Given the description of an element on the screen output the (x, y) to click on. 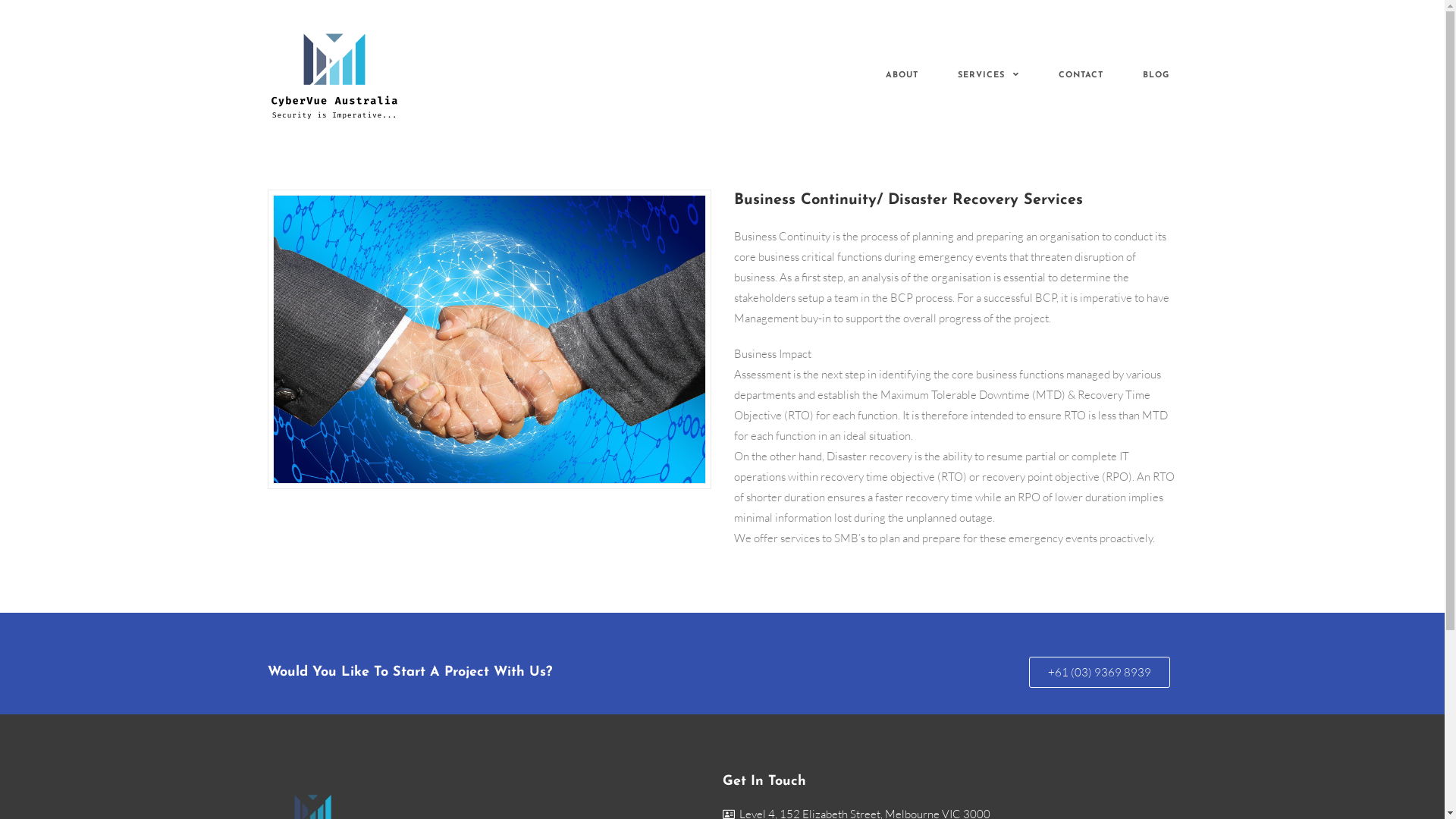
SERVICES Element type: text (987, 75)
ABOUT Element type: text (902, 75)
+61 (03) 9369 8939 Element type: text (1098, 671)
CONTACT Element type: text (1080, 75)
BLOG Element type: text (1155, 75)
